Given the description of an element on the screen output the (x, y) to click on. 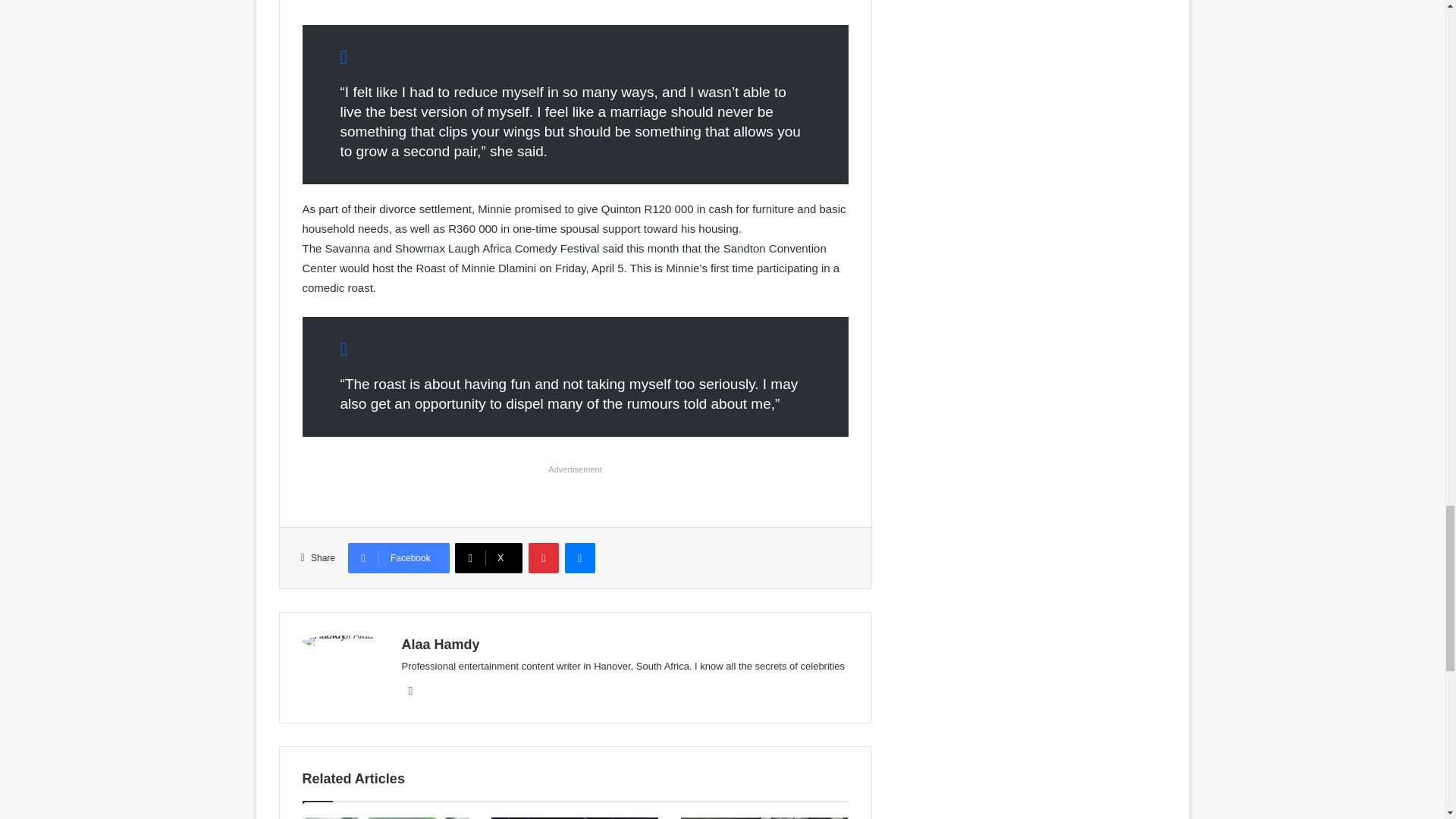
X (488, 557)
Messenger (579, 557)
Alaa Hamdy (440, 644)
Facebook (398, 557)
Facebook (410, 690)
Pinterest (543, 557)
